Given the description of an element on the screen output the (x, y) to click on. 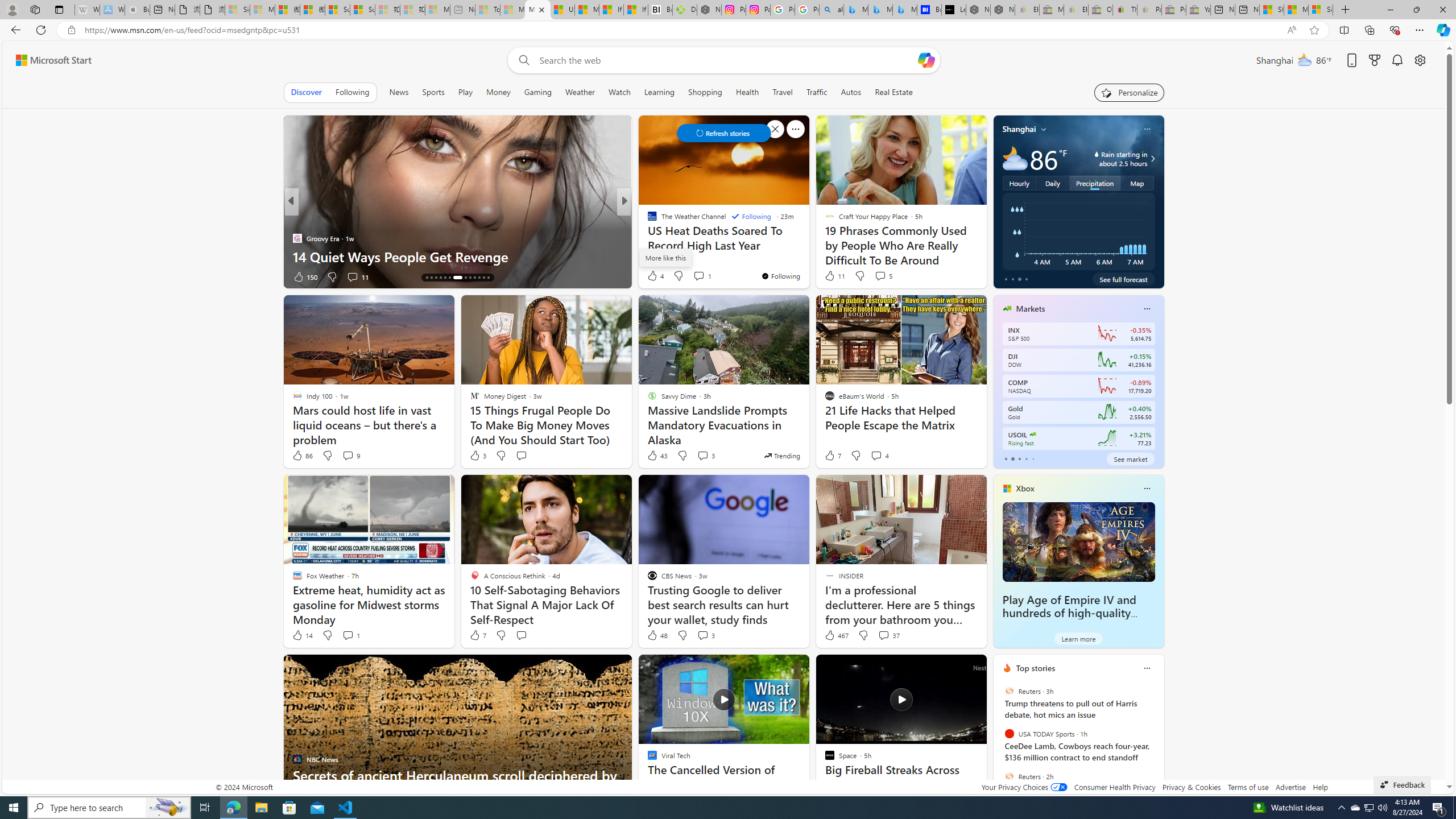
Shopping (705, 92)
Gaming (537, 92)
Weather (579, 92)
Copilot (Ctrl+Shift+.) (1442, 29)
Advertise (1290, 786)
View comments 1 Comment (347, 635)
AutomationID: tab-14 (426, 277)
Discover (306, 92)
View comments 4 Comment (876, 455)
Shopping (705, 92)
Reuters (1008, 775)
Sign in to your Microsoft account (1320, 9)
Rain starting in about 2.5 hours (1150, 158)
